Given the description of an element on the screen output the (x, y) to click on. 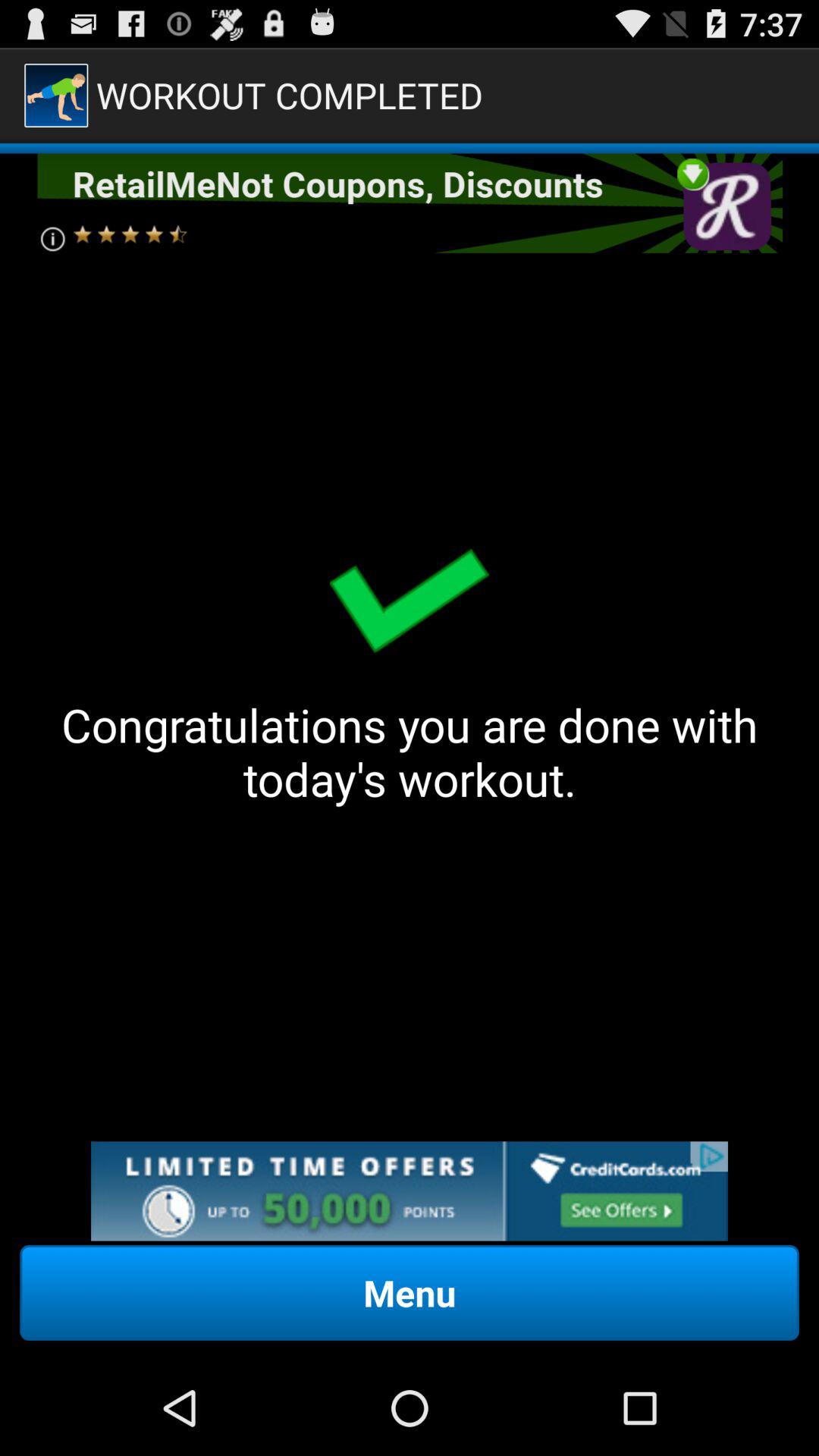
advertisement (408, 203)
